Given the description of an element on the screen output the (x, y) to click on. 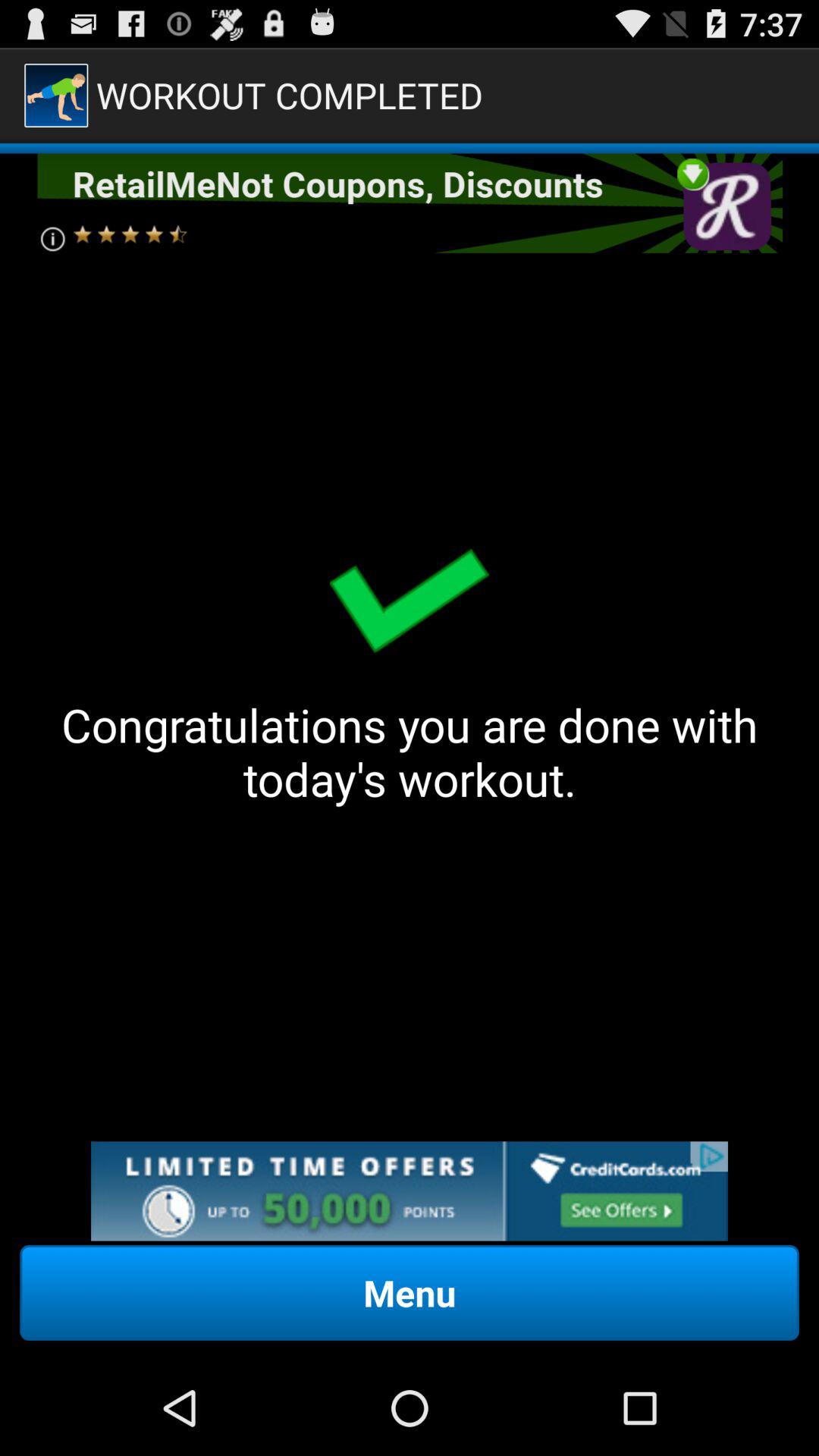
advertisement (408, 203)
